Given the description of an element on the screen output the (x, y) to click on. 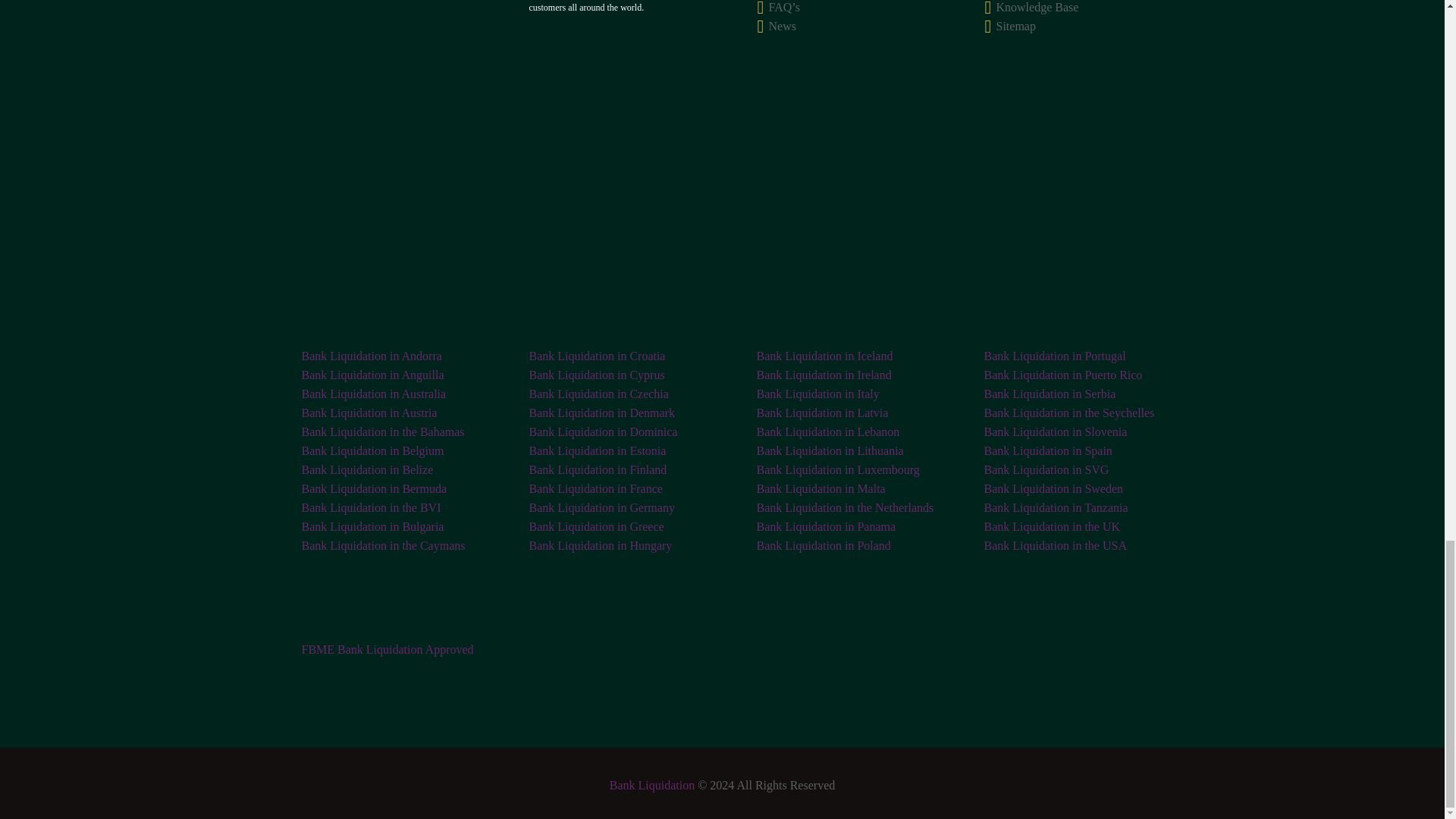
Bank Liquidation in Bulgaria (372, 526)
Bank Liquidation in the Caymans (383, 544)
Bank Liquidation in Austria (369, 412)
Bank Liquidation in Anguilla (372, 374)
Bank Liquidation in Denmark (602, 412)
Bank Liquidation in Bermuda (373, 488)
Bank Liquidation in Andorra (371, 354)
Bank Liquidation in Dominica (603, 431)
Bank Liquidation in Croatia (597, 354)
Bank Liquidation in Belgium (372, 450)
